Given the description of an element on the screen output the (x, y) to click on. 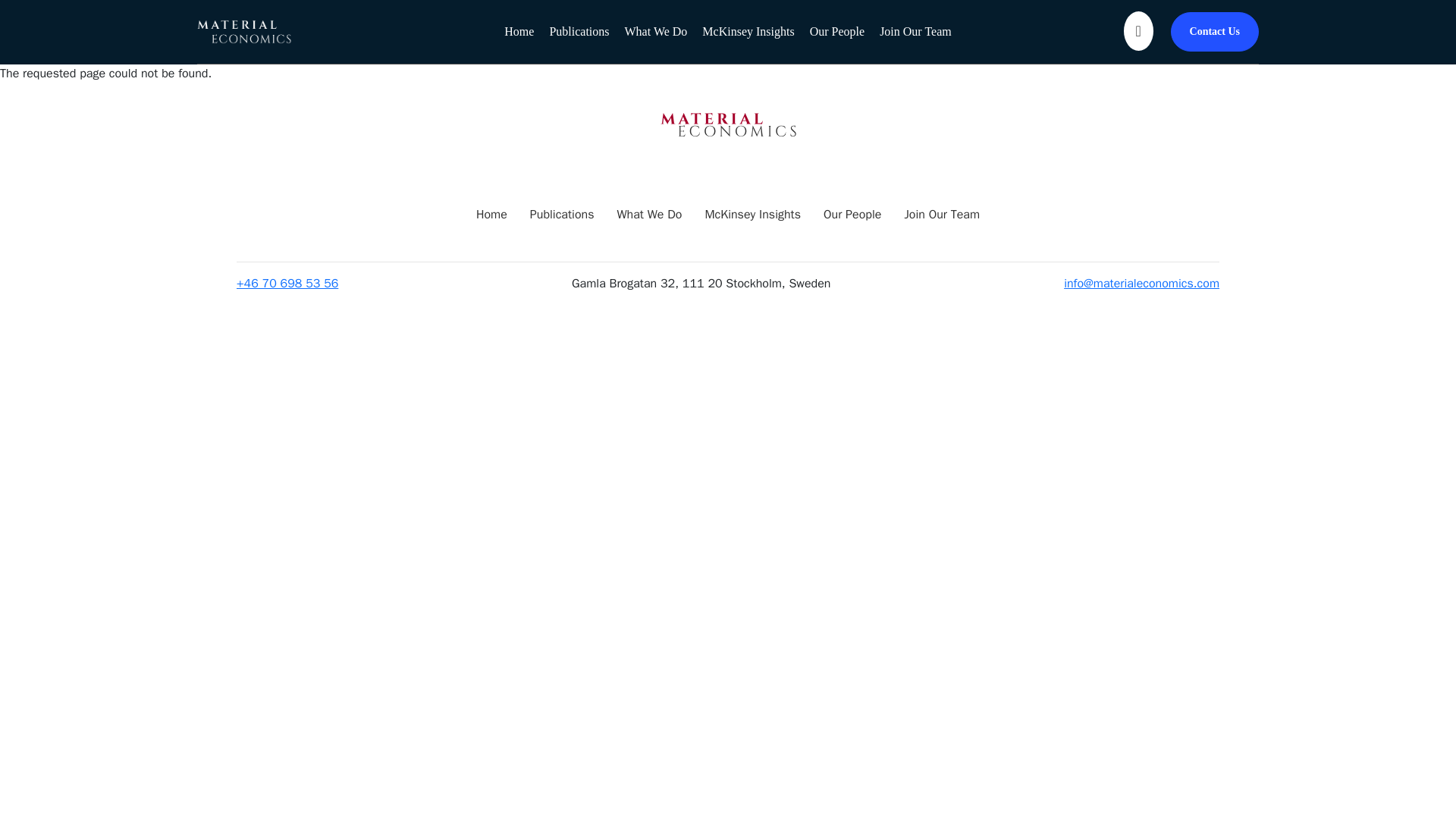
Our People (836, 31)
Join Our Team (915, 31)
What We Do (655, 31)
Home (518, 31)
McKinsey Insights (747, 31)
What We Do (648, 214)
Publications (578, 31)
Our People (852, 214)
McKinsey Insights (752, 214)
Home (491, 214)
Join Our Team (941, 214)
Publications (561, 214)
